Given the description of an element on the screen output the (x, y) to click on. 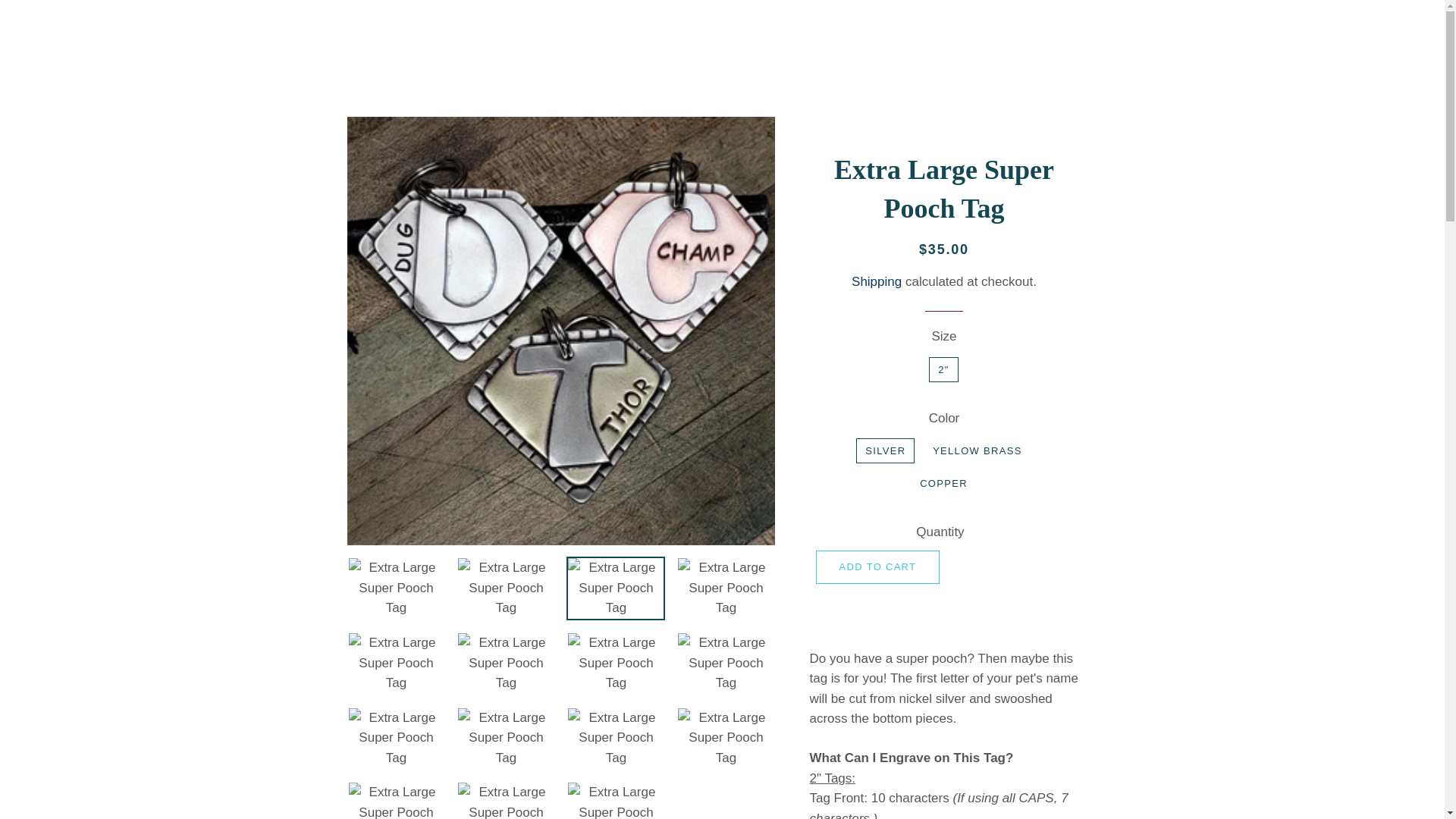
ADD TO CART (877, 566)
Shipping (876, 281)
